Given the description of an element on the screen output the (x, y) to click on. 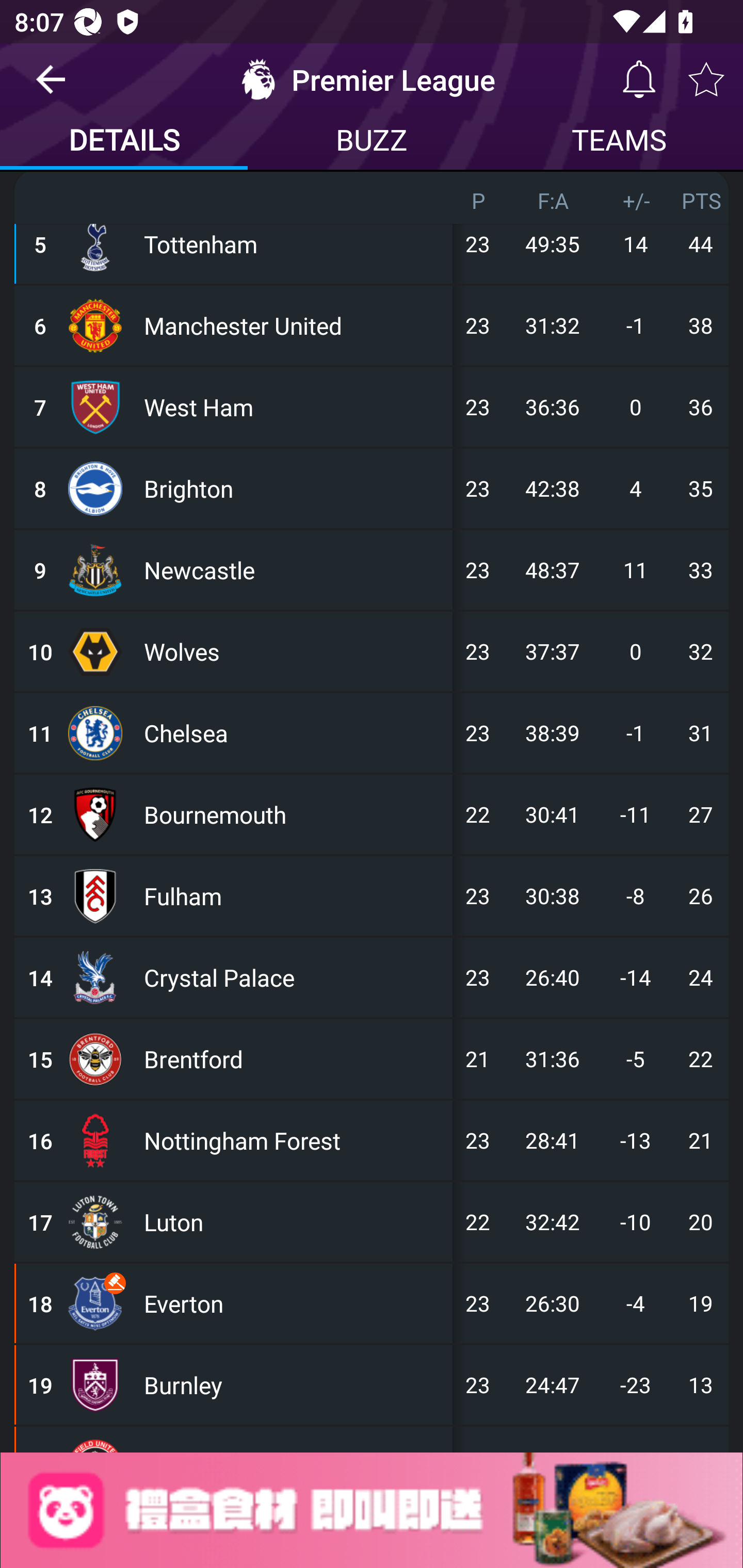
Navigate up (50, 86)
DETAILS (123, 142)
BUZZ (371, 142)
TEAMS (619, 142)
5 Tottenham 23 49:35 14 44 (371, 243)
Tottenham (293, 243)
6 Manchester United 23 31:32 -1 38 (371, 325)
Manchester United (293, 325)
7 West Ham 23 36:36 0 36 (371, 406)
West Ham (293, 406)
8 Brighton 23 42:38 4 35 (371, 488)
Brighton (293, 488)
9 Newcastle 23 48:37 11 33 (371, 569)
Newcastle (293, 569)
10 Wolves 23 37:37 0 32 (371, 651)
Wolves (293, 651)
11 Chelsea 23 38:39 -1 31 (371, 733)
Chelsea (293, 733)
12 Bournemouth 22 30:41 -11 27 (371, 814)
Bournemouth (293, 814)
13 Fulham 23 30:38 -8 26 (371, 896)
Fulham (293, 896)
14 Crystal Palace 23 26:40 -14 24 (371, 977)
Crystal Palace (293, 977)
15 Brentford 21 31:36 -5 22 (371, 1059)
Brentford (293, 1059)
16 Nottingham Forest 23 28:41 -13 21 (371, 1140)
Nottingham Forest (293, 1140)
17 Luton 22 32:42 -10 20 (371, 1222)
Luton (293, 1222)
18 Everton 23 26:30 -4 19 (371, 1303)
Everton (293, 1303)
19 Burnley 23 24:47 -23 13 (371, 1385)
Burnley (293, 1385)
Advertisement (371, 1509)
